Given the description of an element on the screen output the (x, y) to click on. 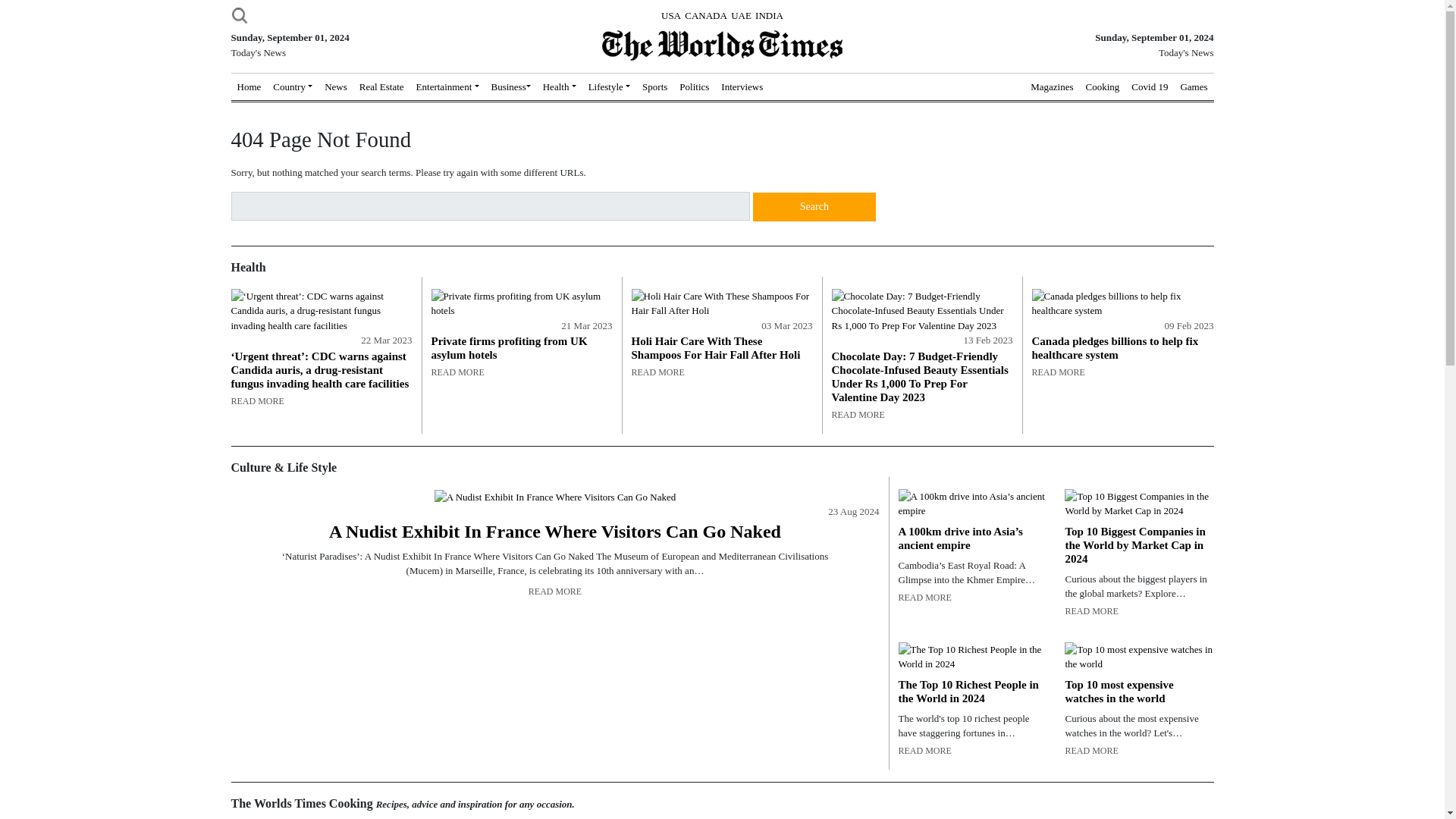
Search (814, 206)
Entertainment (447, 86)
The Worlds Times (722, 45)
Search (814, 206)
Private firms profiting from UK asylum hotels (520, 303)
Holi Hair Care With These Shampoos For Hair Fall After Holi (721, 303)
Top 10 Biggest Companies in the World by Market Cap in 2024 (1138, 503)
Country (292, 86)
Business (510, 86)
Canada pledges billions to help fix healthcare system (1121, 303)
